Given the description of an element on the screen output the (x, y) to click on. 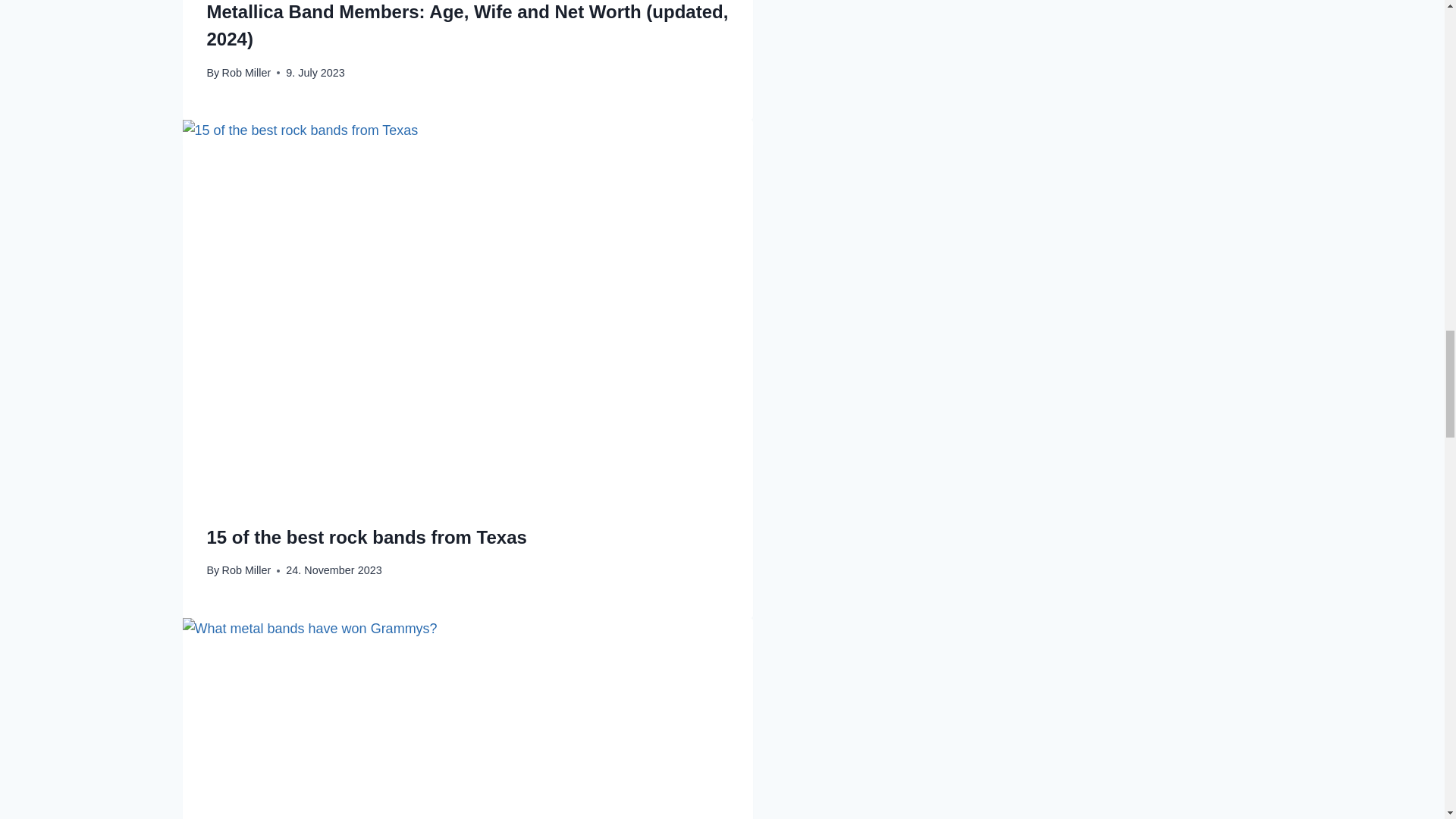
Rob Miller (245, 72)
Rob Miller (245, 570)
15 of the best rock bands from Texas (365, 537)
